Given the description of an element on the screen output the (x, y) to click on. 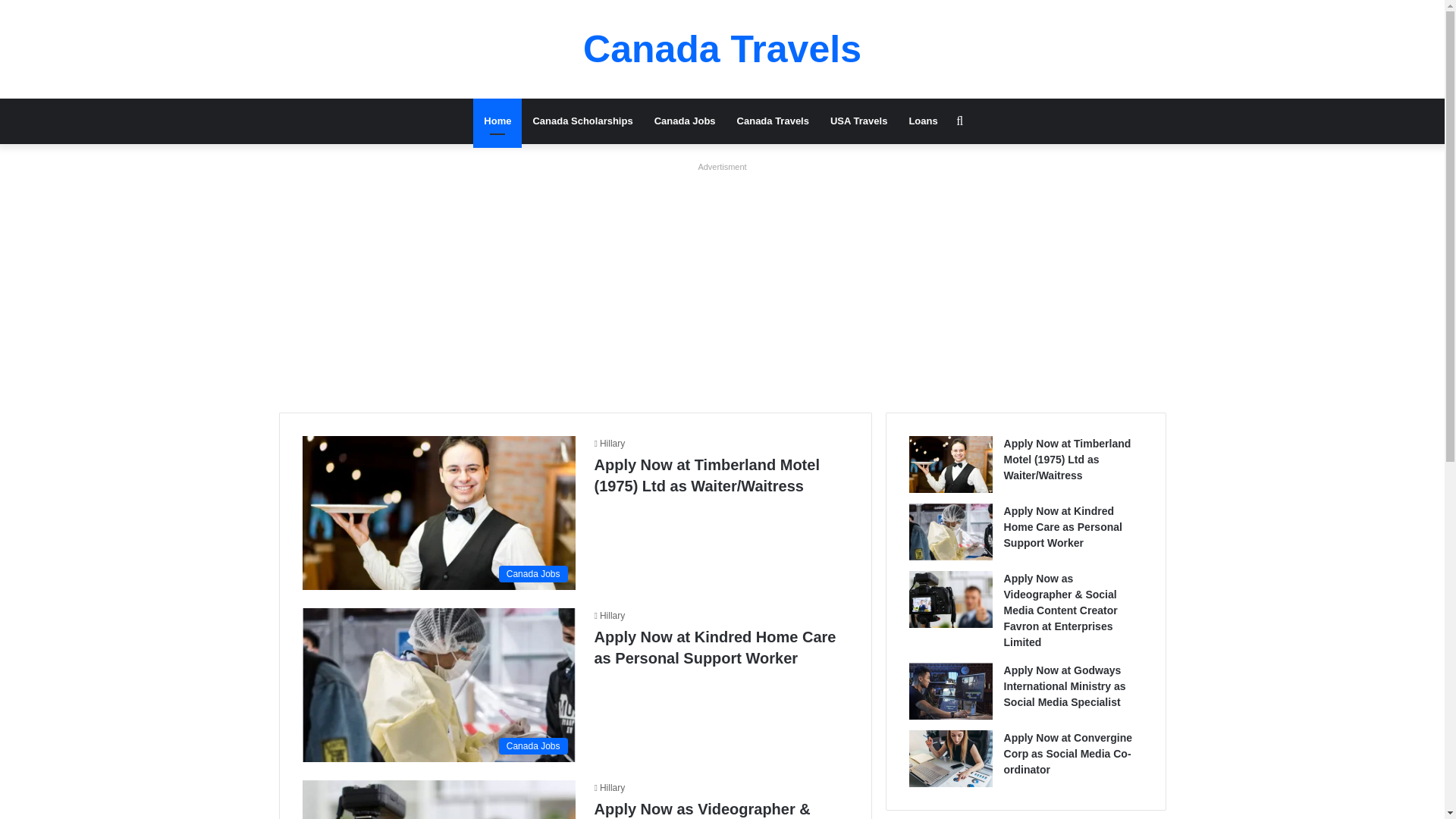
Loans (922, 121)
Home (497, 121)
Canada Scholarships (582, 121)
Hillary (610, 787)
Apply Now at Convergine Corp as Social Media Co-ordinator (1068, 753)
Canada Jobs (438, 512)
USA Travels (858, 121)
Canada Travels (722, 48)
